Given the description of an element on the screen output the (x, y) to click on. 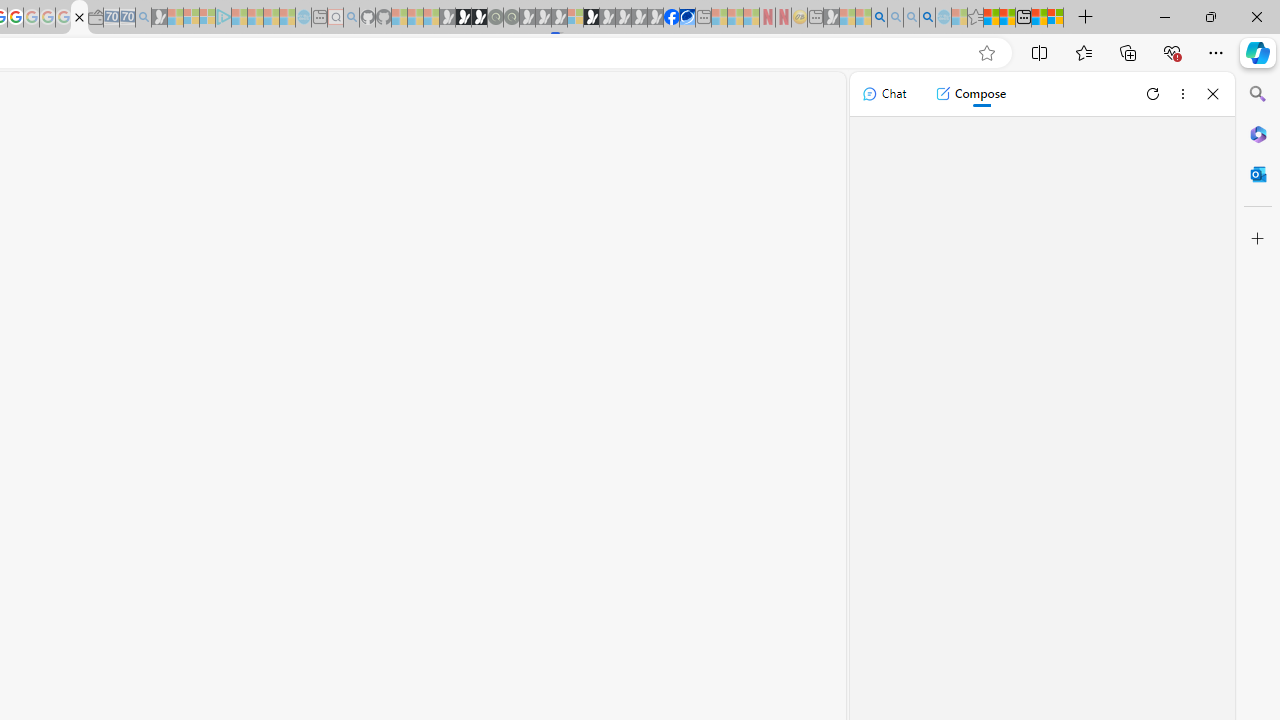
Sign in to your account - Sleeping (575, 17)
Chat (884, 93)
Future Focus Report 2024 - Sleeping (511, 17)
